Given the description of an element on the screen output the (x, y) to click on. 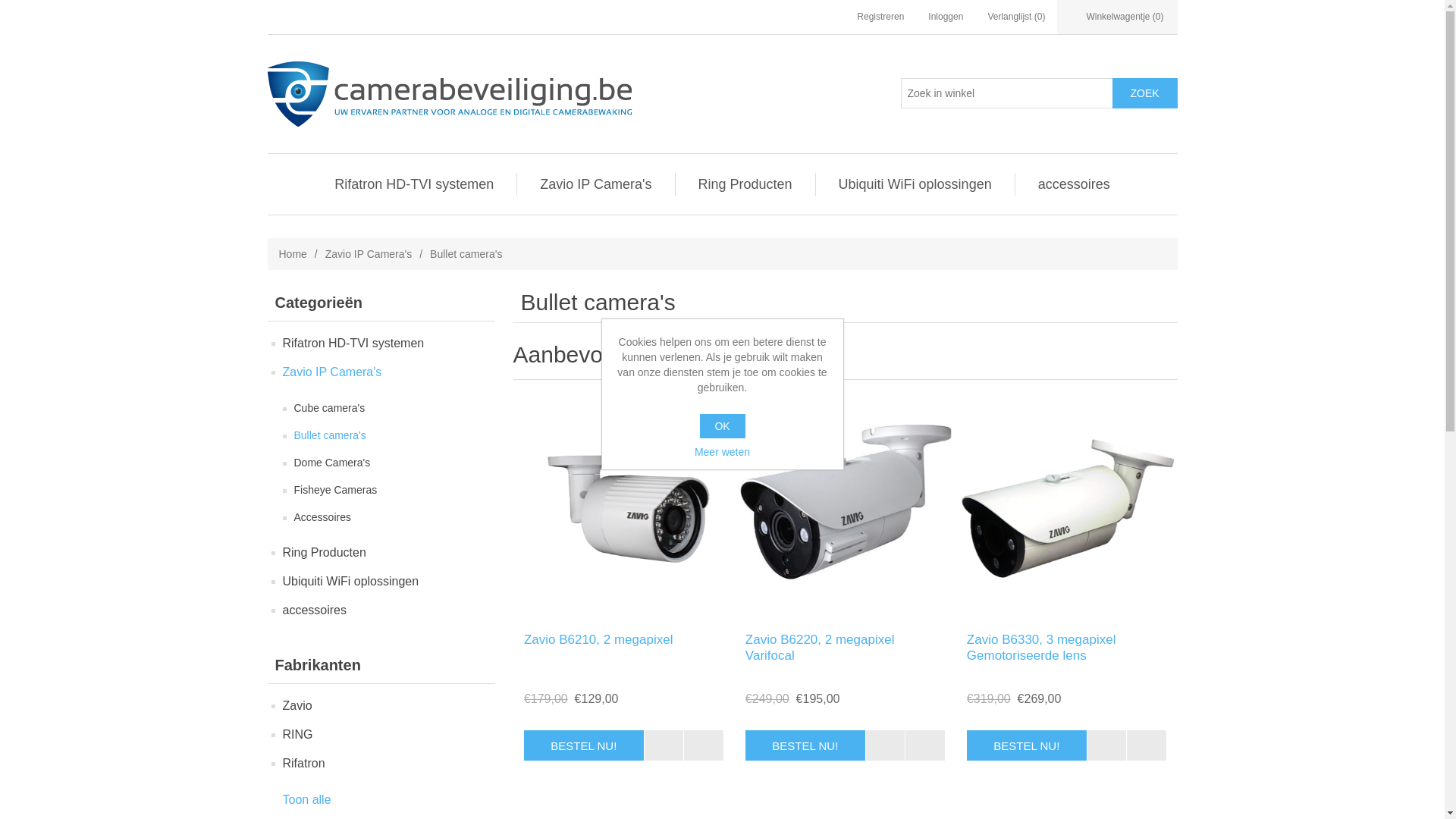
Home Element type: text (293, 253)
Registreren Element type: text (879, 17)
Bestel nu! Element type: text (583, 745)
Rifatron Element type: text (303, 763)
Dome Camera's Element type: text (332, 462)
OK Element type: text (721, 426)
Toon details van Zavio B6220, 2 megapixel Varifocal Element type: hover (844, 509)
Ring Producten Element type: text (744, 183)
Zavio IP Camera's Element type: text (595, 183)
Toevoegen aan productvergelijking Element type: text (885, 745)
Toon alle Element type: text (306, 799)
Winkelwagentje (0) Element type: text (1116, 17)
Cube camera's Element type: text (329, 407)
Bestel nu! Element type: text (805, 745)
Zet op verlanglijst Element type: hover (703, 745)
Meer weten Element type: text (722, 451)
0 review(s) Element type: hover (560, 673)
Accessoires Element type: text (322, 517)
Zavio B6210, 2 megapixel Element type: text (623, 639)
Bestel nu! Element type: text (1026, 745)
Zet op verlanglijst Element type: hover (1146, 745)
Rifatron HD-TVI systemen Element type: text (413, 183)
Toevoegen aan productvergelijking Element type: hover (885, 745)
Zet op verlanglijst Element type: text (703, 745)
Verlanglijst (0) Element type: text (1015, 17)
Fisheye Cameras Element type: text (335, 489)
Zavio IP Camera's Element type: text (368, 253)
Ring Producten Element type: text (323, 552)
Zet op verlanglijst Element type: text (1146, 745)
Zavio B6220, 2 megapixel Varifocal Element type: text (844, 647)
0 review(s) Element type: hover (781, 673)
Zavio B6330, 3 megapixel Gemotoriseerde lens Element type: text (1066, 647)
accessoires Element type: text (313, 610)
Zet op verlanglijst Element type: text (924, 745)
Toevoegen aan productvergelijking Element type: text (663, 745)
Zet op verlanglijst Element type: hover (924, 745)
Toevoegen aan productvergelijking Element type: text (1106, 745)
Rifatron HD-TVI systemen Element type: text (352, 343)
Zavio IP Camera's Element type: text (331, 371)
accessoires Element type: text (1073, 183)
Toevoegen aan productvergelijking Element type: hover (663, 745)
0 review(s) Element type: hover (1002, 673)
RING Element type: text (297, 734)
Ubiquiti WiFi oplossingen Element type: text (915, 183)
Zavio Element type: text (296, 705)
Inloggen Element type: text (945, 17)
Zoek Element type: text (1143, 92)
Bullet camera's Element type: text (330, 435)
Toon details van Zavio B6210, 2 megapixel Element type: hover (623, 509)
Toevoegen aan productvergelijking Element type: hover (1106, 745)
Ubiquiti WiFi oplossingen Element type: text (350, 581)
